Given the description of an element on the screen output the (x, y) to click on. 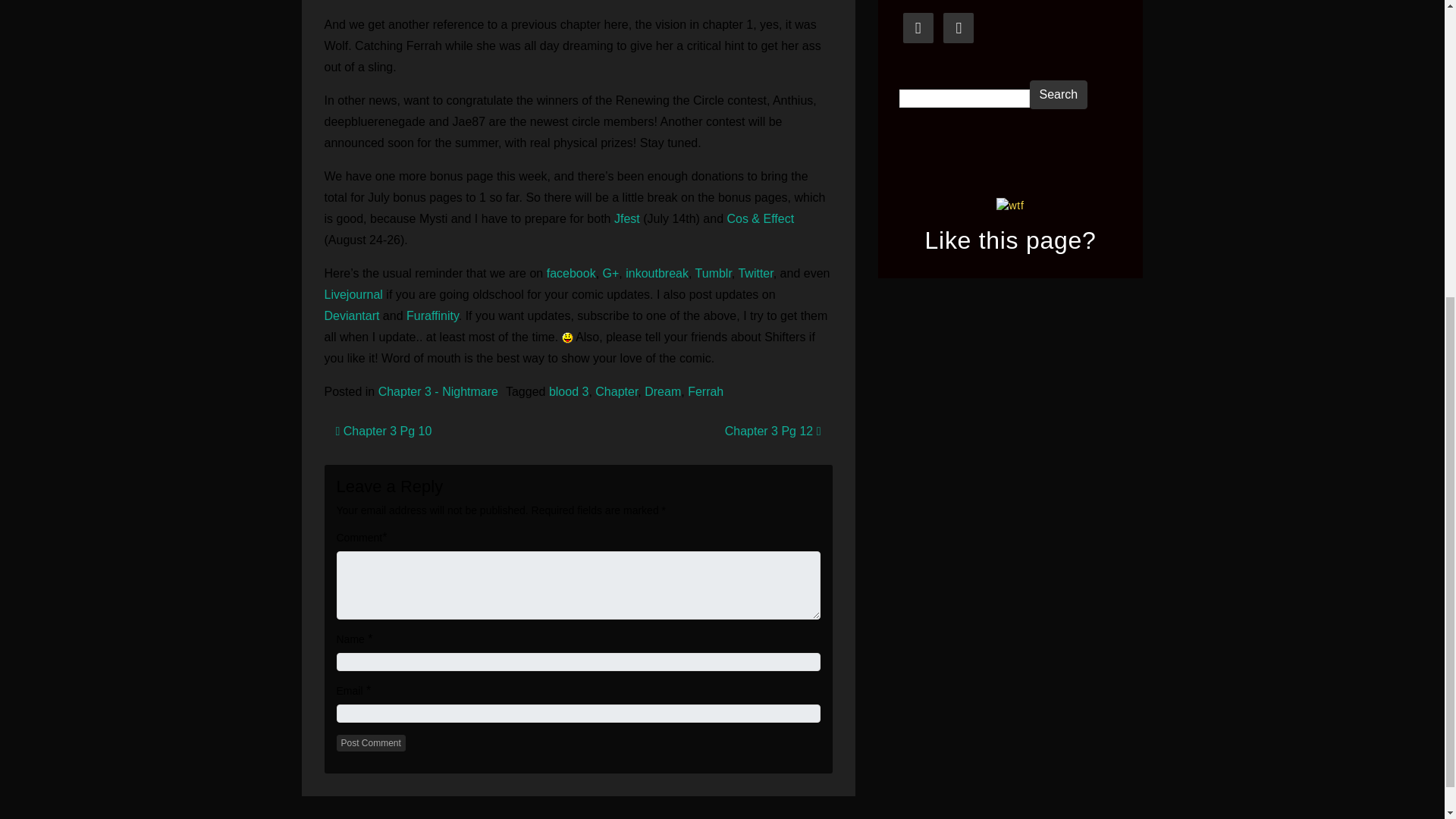
blood 3 (568, 391)
Tumblr (713, 273)
 Chapter 3 Pg 10 (382, 431)
Chapter (616, 391)
Deviantart (352, 315)
Twitter (755, 273)
facebook (571, 273)
Chapter 3 Pg 12  (773, 431)
Livejournal (355, 294)
inkoutbreak (657, 273)
Post Comment (371, 742)
Chapter 3 - Nightmare (437, 391)
Dream (663, 391)
Post Comment (371, 742)
Jfest (628, 218)
